Given the description of an element on the screen output the (x, y) to click on. 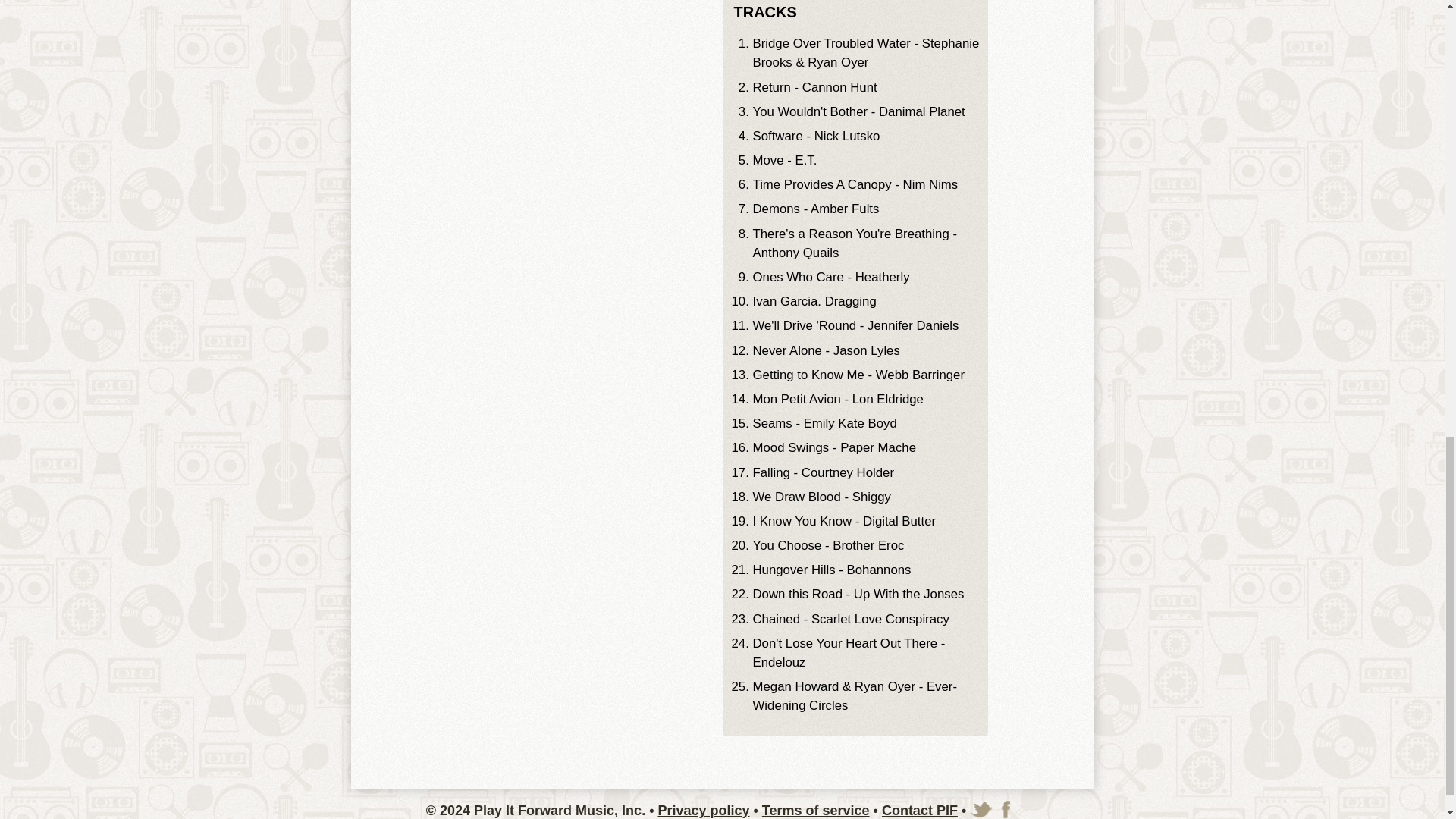
Contact PIF (920, 810)
Privacy policy (703, 810)
Terms of service (815, 810)
